Given the description of an element on the screen output the (x, y) to click on. 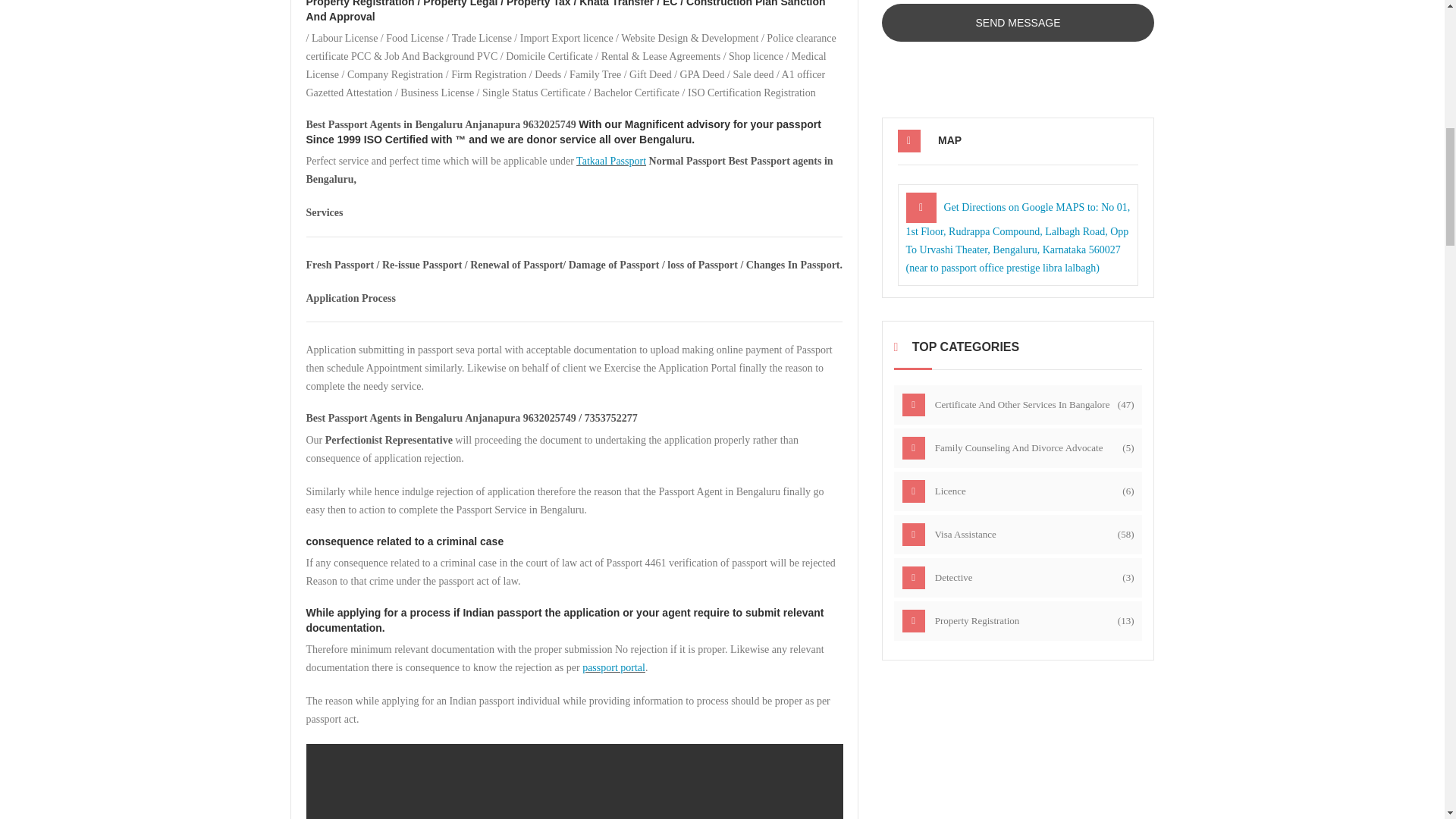
Send Message (1017, 22)
View posts in Detective (1017, 577)
View posts in Visa Assistance (1017, 534)
View posts in Family Counseling and Divorce Advocate (1017, 447)
Tatkaal Passport (611, 161)
View posts in Certificate and Other Services in Bangalore (1017, 404)
View posts in Licence (1017, 491)
passport portal (613, 667)
